Given the description of an element on the screen output the (x, y) to click on. 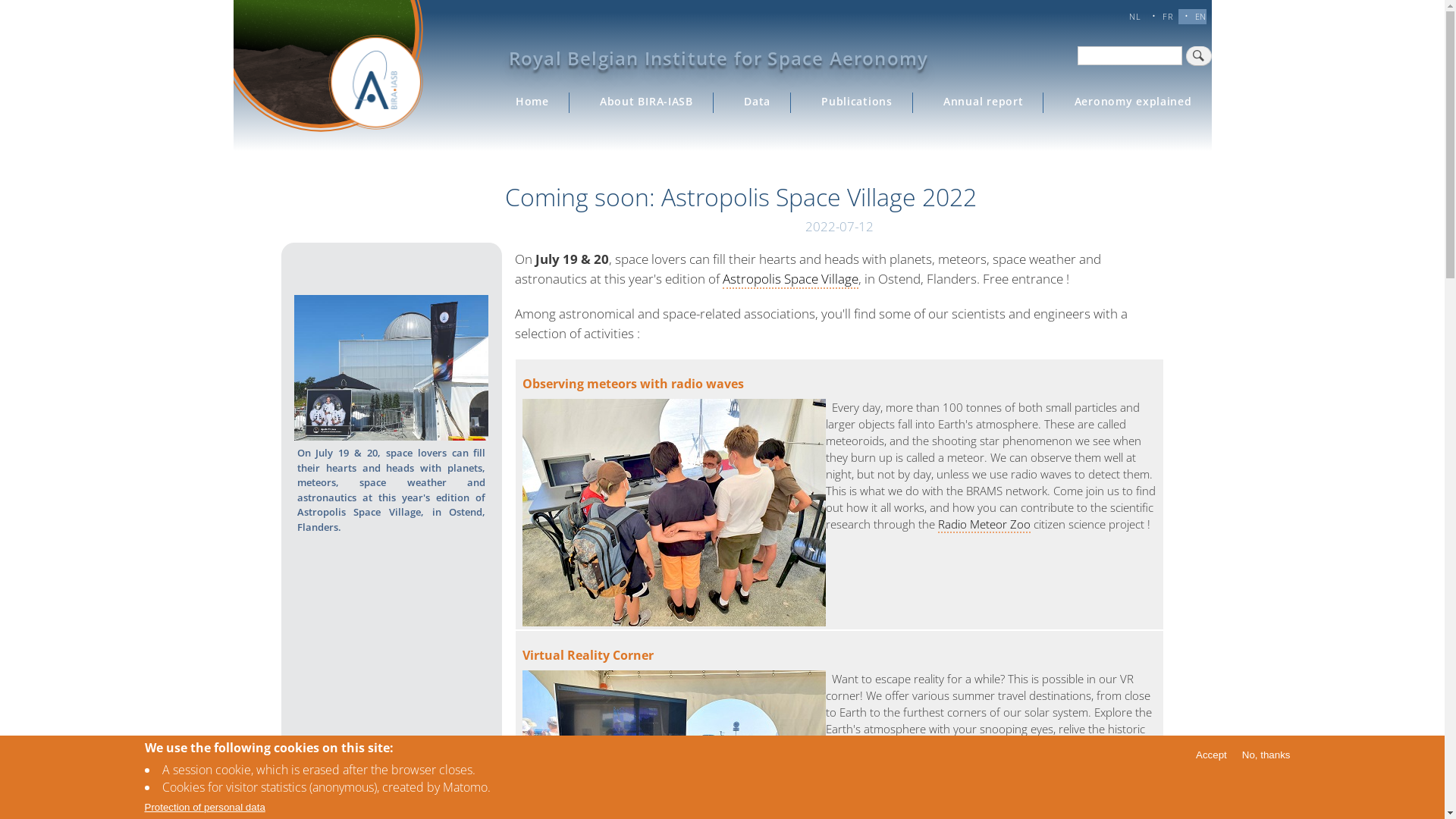
Annual report Element type: text (983, 100)
Accept Element type: text (1211, 753)
NL Element type: text (1134, 15)
Protection of personal data Element type: text (204, 806)
Data Element type: text (757, 100)
Skip to main content Element type: text (0, 1)
About BIRA-IASB Element type: text (646, 100)
EN Element type: text (1200, 15)
Radio Meteor Zoo Element type: text (984, 524)
Publications Element type: text (856, 100)
No, thanks Element type: text (1266, 753)
Aeronomy explained Element type: text (1132, 100)
Astropolis Space Village Element type: text (790, 278)
Search Element type: text (1198, 55)
FR Element type: text (1167, 15)
Home Element type: text (531, 100)
Enter the terms you wish to search for. Element type: hover (1128, 55)
